Given the description of an element on the screen output the (x, y) to click on. 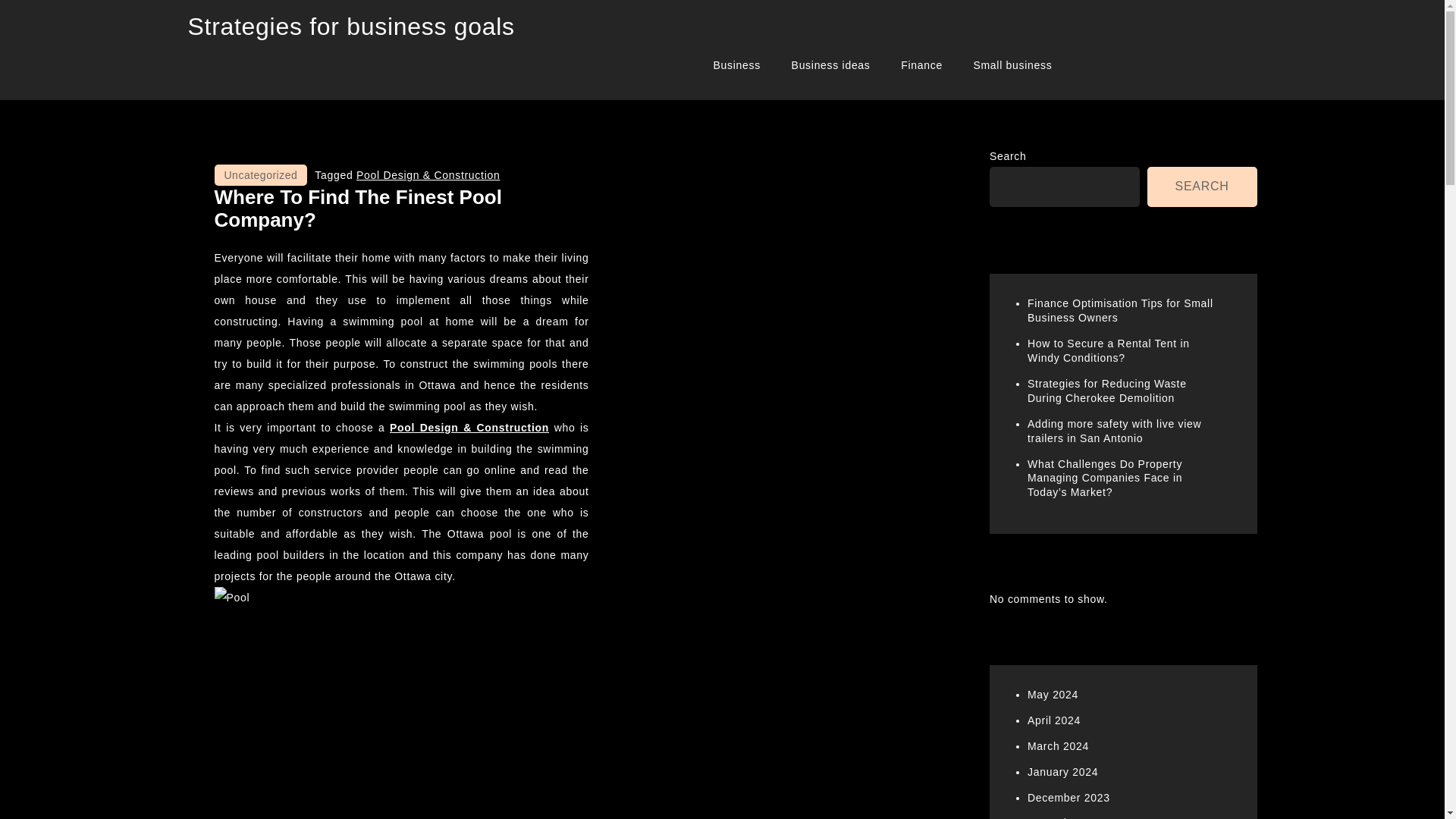
Finance (921, 64)
April 2024 (1053, 720)
Uncategorized (260, 174)
December 2023 (1068, 797)
Strategies for business goals (351, 26)
January 2024 (1062, 771)
Small business (1012, 64)
May 2024 (1052, 694)
How to Secure a Rental Tent in Windy Conditions? (1108, 350)
November 2023 (1068, 817)
Adding more safety with live view trailers in San Antonio (1114, 430)
SEARCH (1202, 187)
Finance Optimisation Tips for Small Business Owners (1119, 310)
Where To Find The Finest Pool Company? (357, 207)
March 2024 (1058, 746)
